Given the description of an element on the screen output the (x, y) to click on. 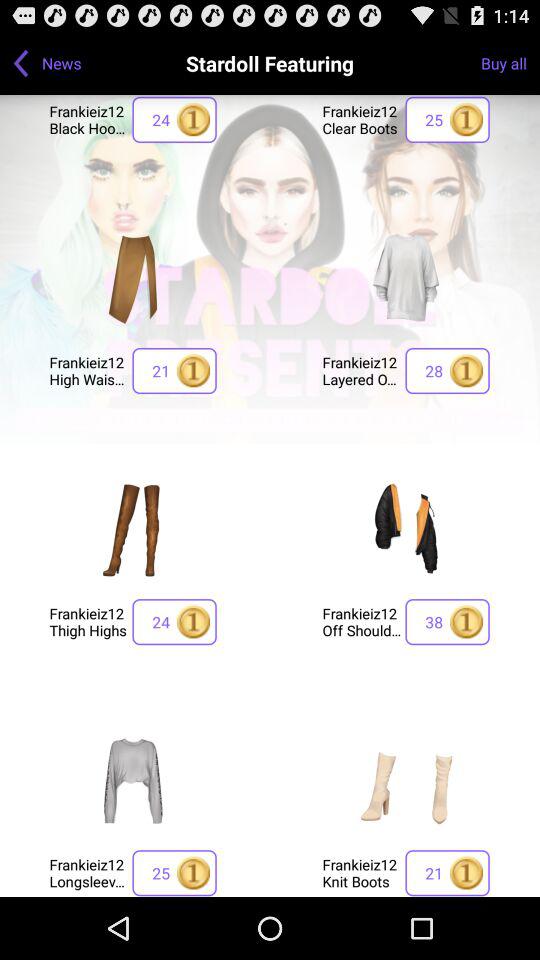
turn on the item next to 21 icon (361, 370)
